Given the description of an element on the screen output the (x, y) to click on. 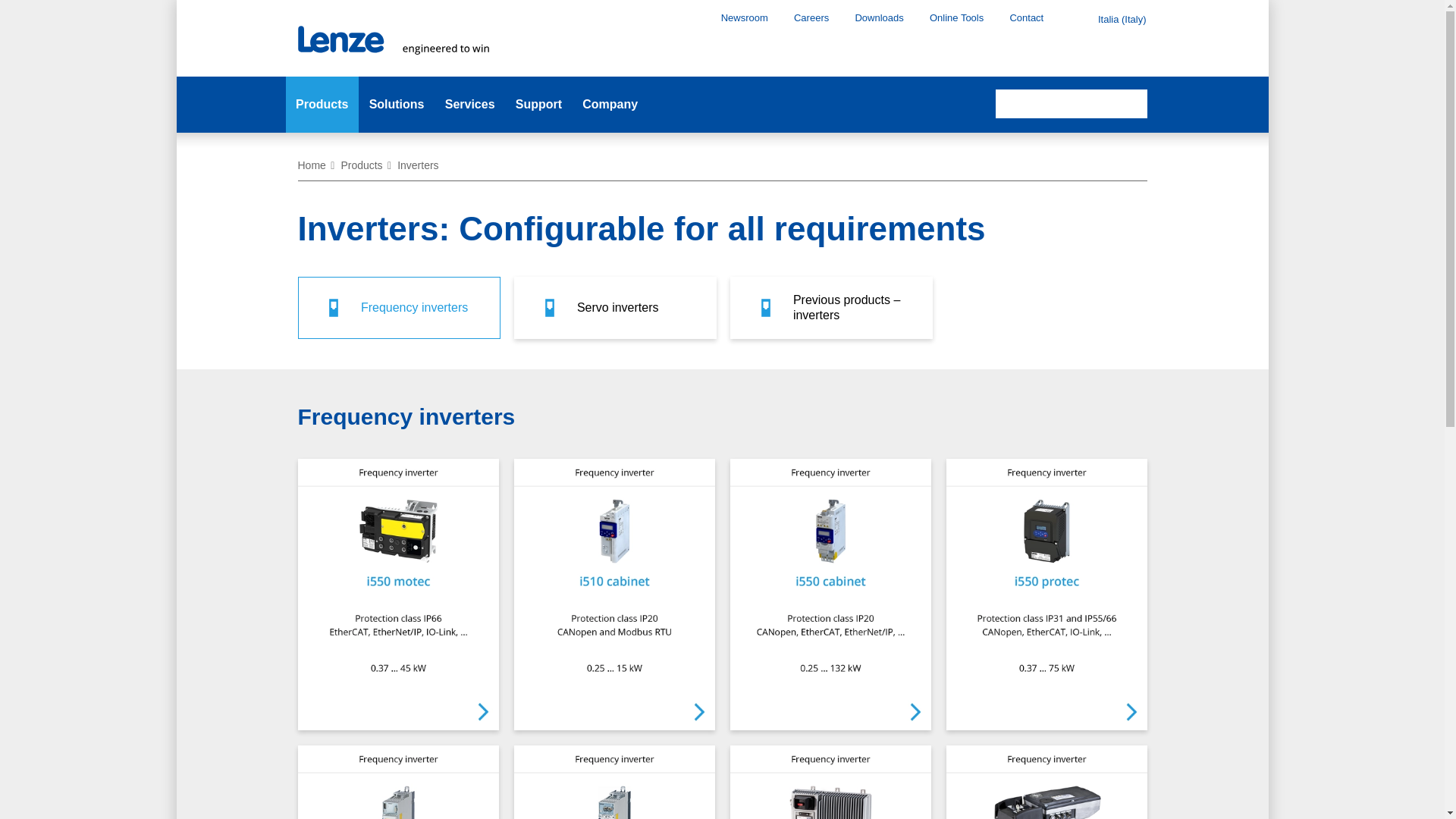
Downloads (878, 17)
Products (321, 104)
Newsroom (744, 17)
8400 StateLine frequency inverter (397, 781)
Careers (810, 17)
8400 HighLine frequency inverter (613, 781)
Contact (1026, 17)
Online Tools (956, 17)
8400 protec frequency inverter (829, 781)
